Given the description of an element on the screen output the (x, y) to click on. 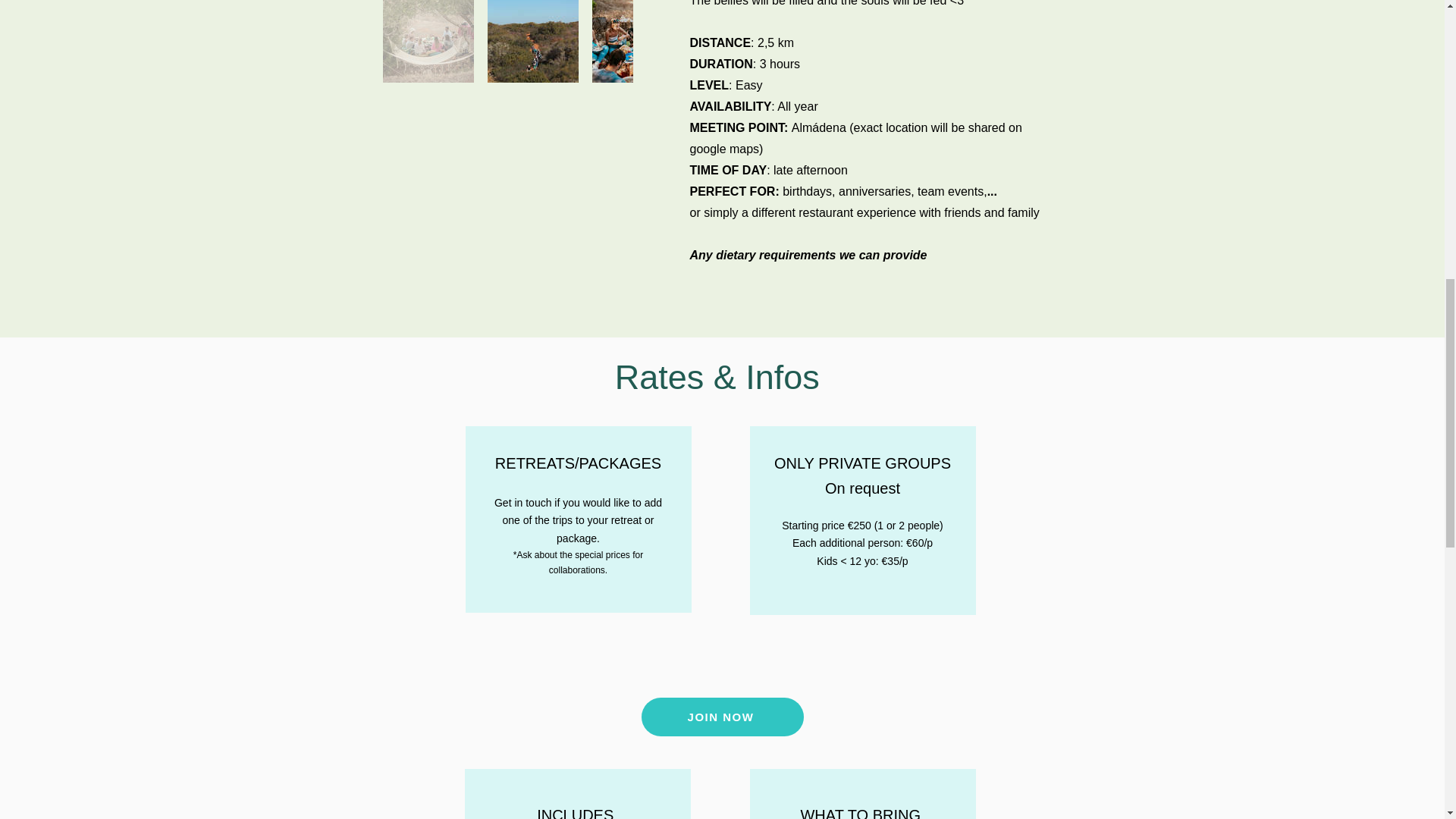
JOIN NOW (722, 716)
